Given the description of an element on the screen output the (x, y) to click on. 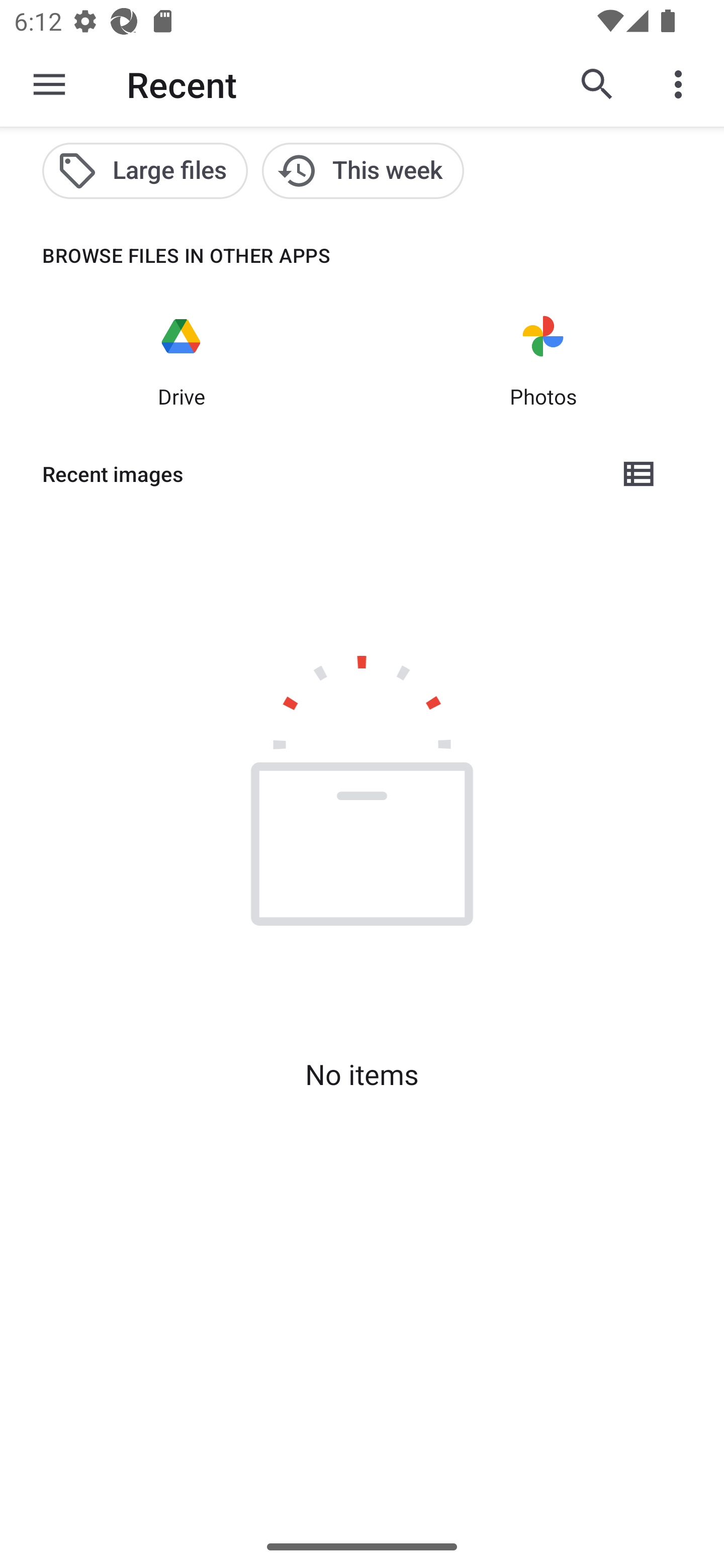
Show roots (49, 84)
Search (597, 84)
More options (681, 84)
Large files (144, 170)
This week (363, 170)
Drive (181, 359)
Photos (543, 359)
List view (639, 473)
